Given the description of an element on the screen output the (x, y) to click on. 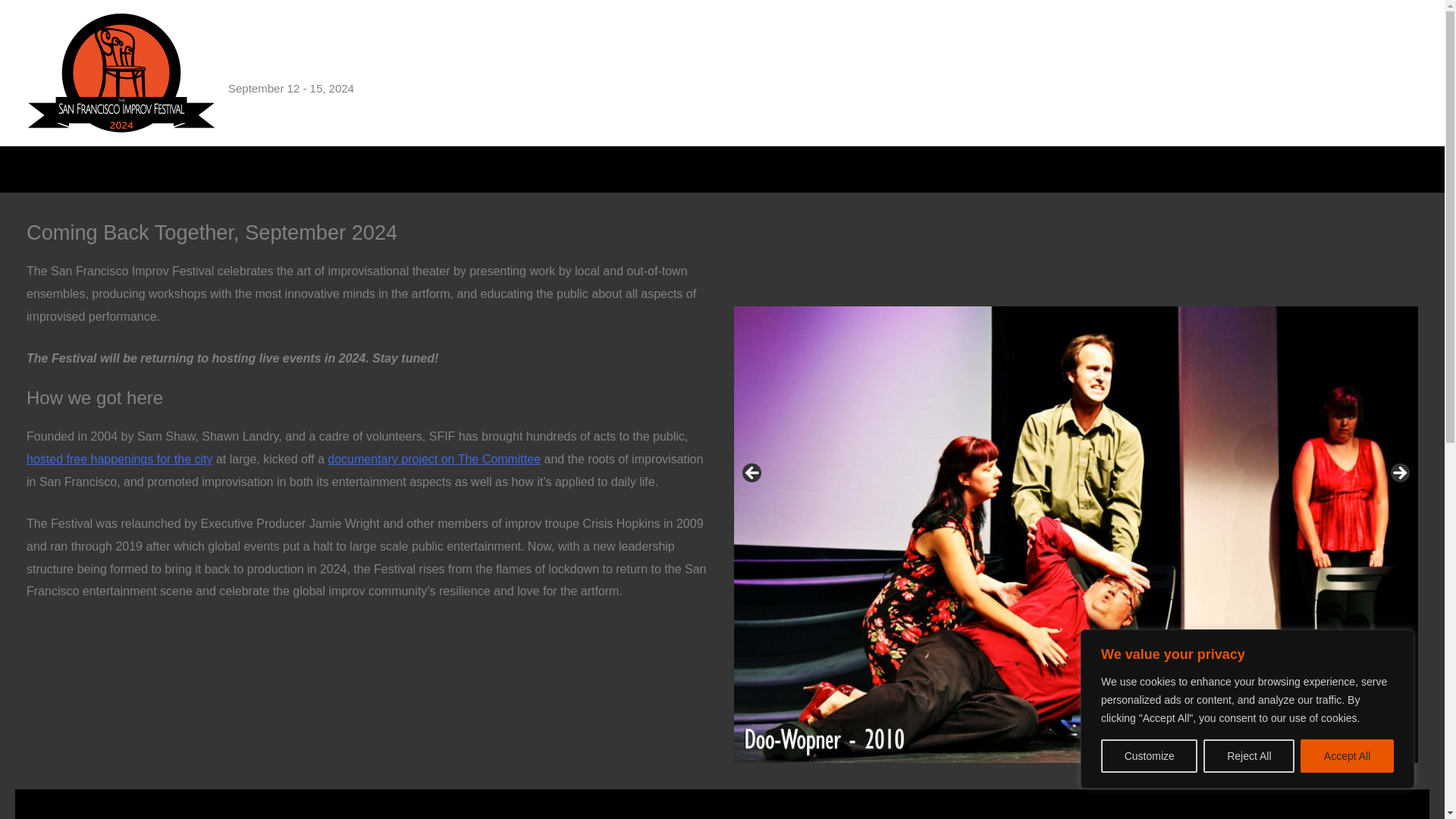
Reject All (1249, 756)
Previous (752, 473)
documentary project on The Committee (433, 459)
The 2024 San Francisco Improv Festival (466, 63)
Customize (1148, 756)
Next (1398, 473)
Accept All (1346, 756)
hosted free happenings for the city (119, 459)
